Given the description of an element on the screen output the (x, y) to click on. 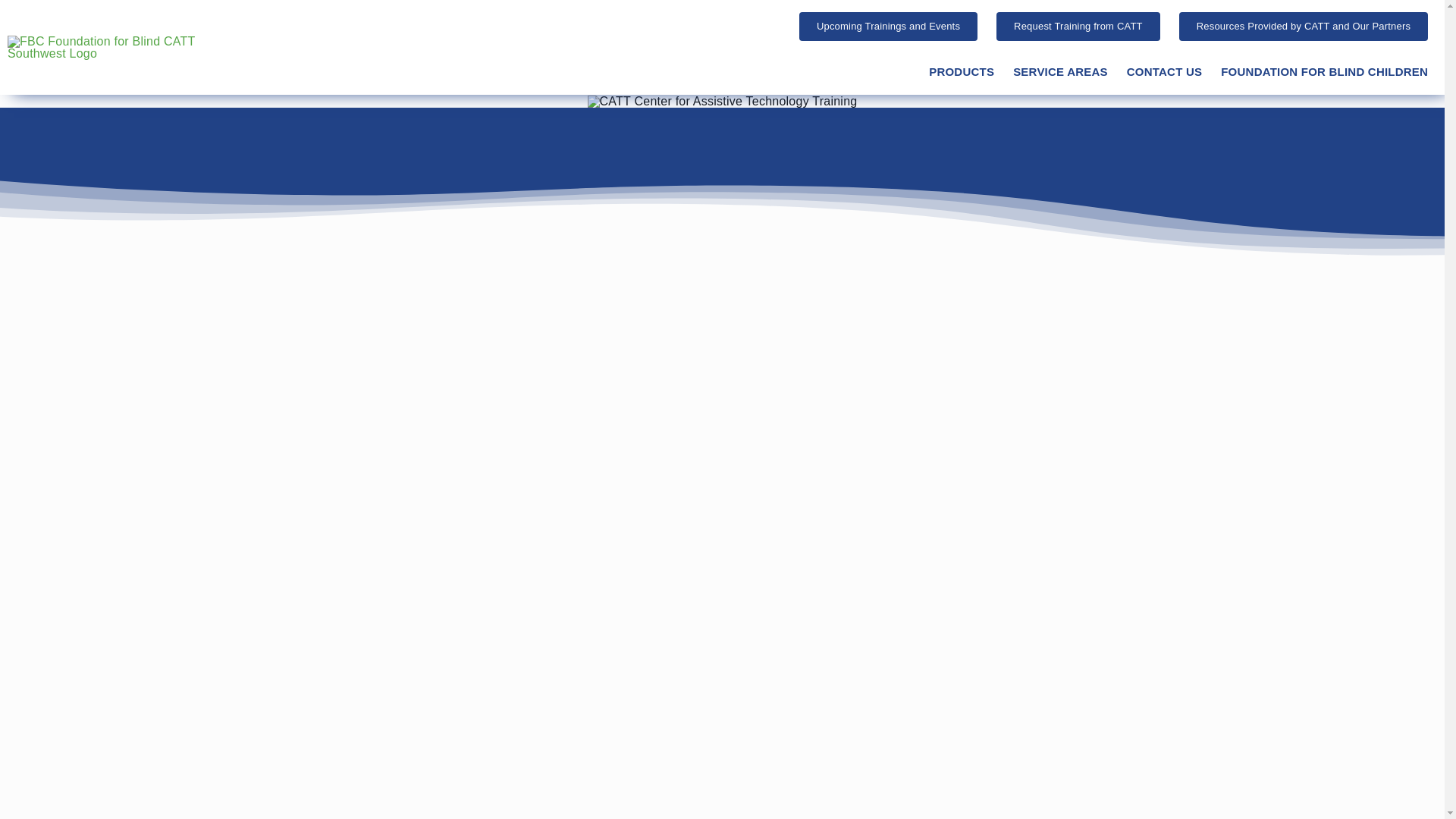
CONTACT US (1164, 71)
Upcoming Trainings and Events (887, 26)
PRODUCTS (961, 71)
Request Training from CATT (1077, 26)
FOUNDATION FOR BLIND CHILDREN (1324, 71)
Resources Provided by CATT and Our Partners (1303, 26)
SERVICE AREAS (1060, 71)
